Given the description of an element on the screen output the (x, y) to click on. 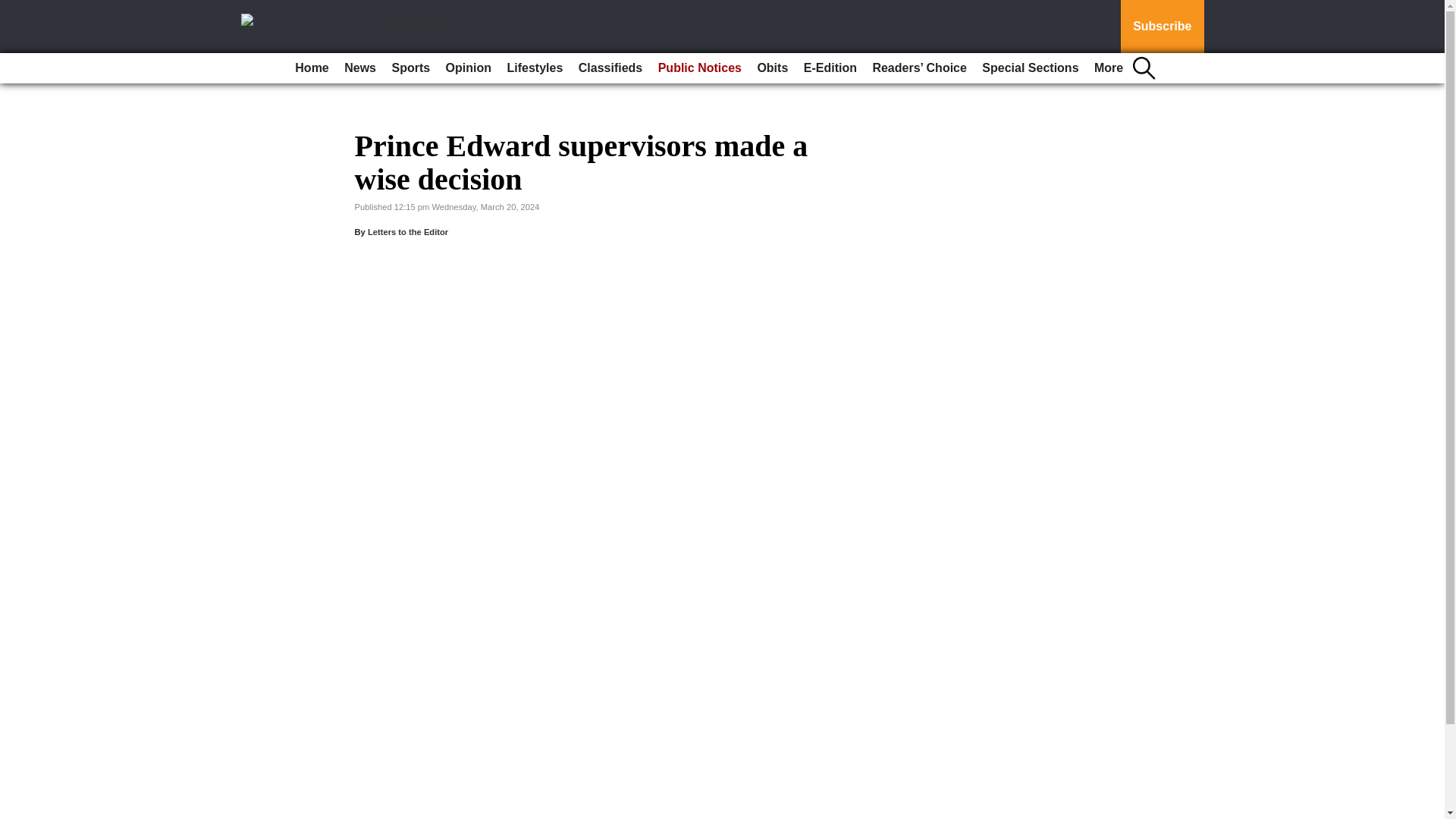
News (359, 68)
Home (311, 68)
Classifieds (609, 68)
Sports (410, 68)
Subscribe (1162, 26)
Opinion (468, 68)
Lifestyles (534, 68)
E-Edition (830, 68)
More (1108, 68)
Obits (772, 68)
